Given the description of an element on the screen output the (x, y) to click on. 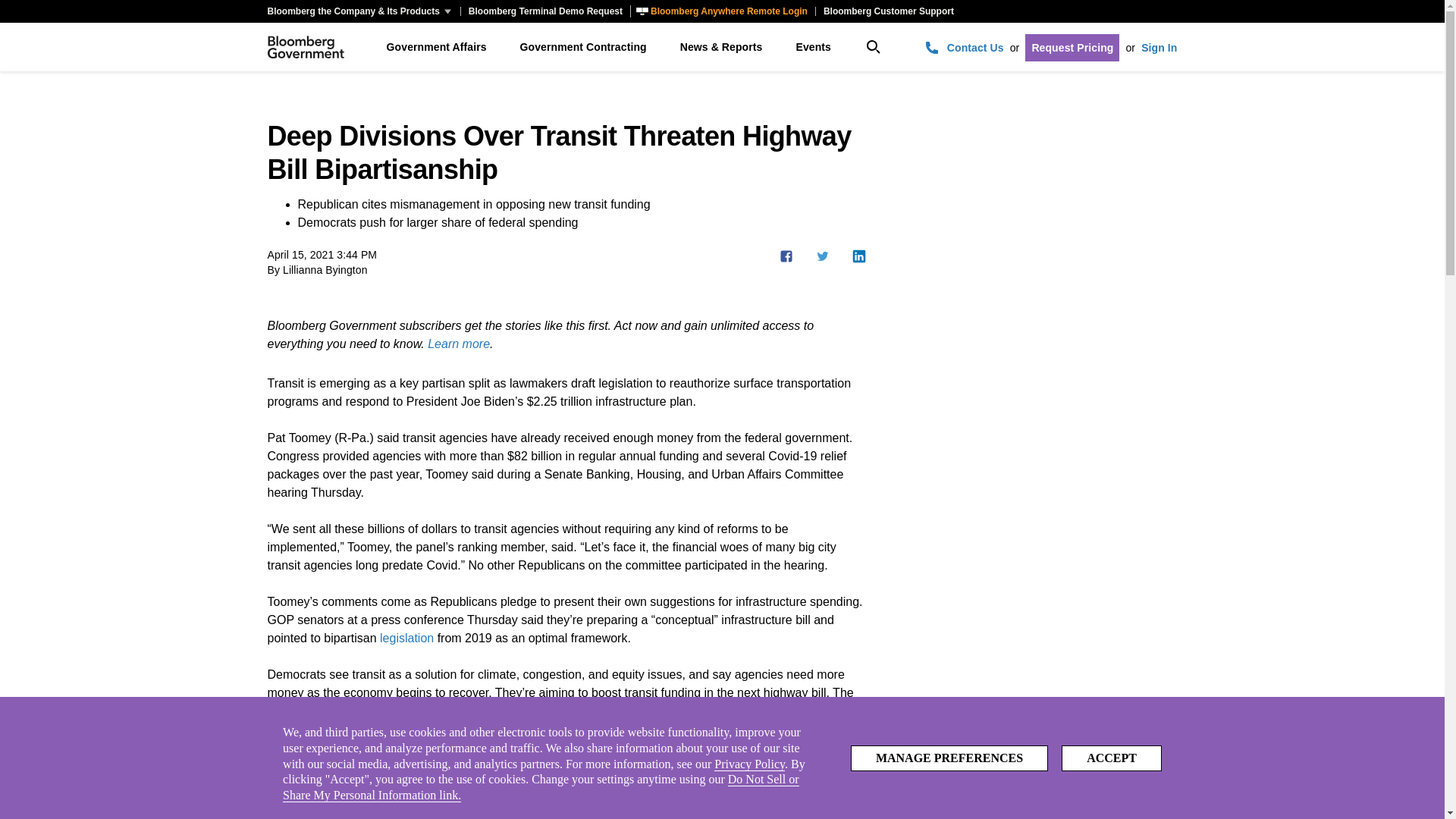
TOP (1403, 768)
Bloomberg Terminal Demo Request (545, 10)
Share on Facebook (785, 256)
Bloomberg Anywhere Remote Login (722, 10)
Share on Twitter (821, 256)
Share on LinkedIn (857, 256)
Bloomberg Customer Support (887, 10)
